Given the description of an element on the screen output the (x, y) to click on. 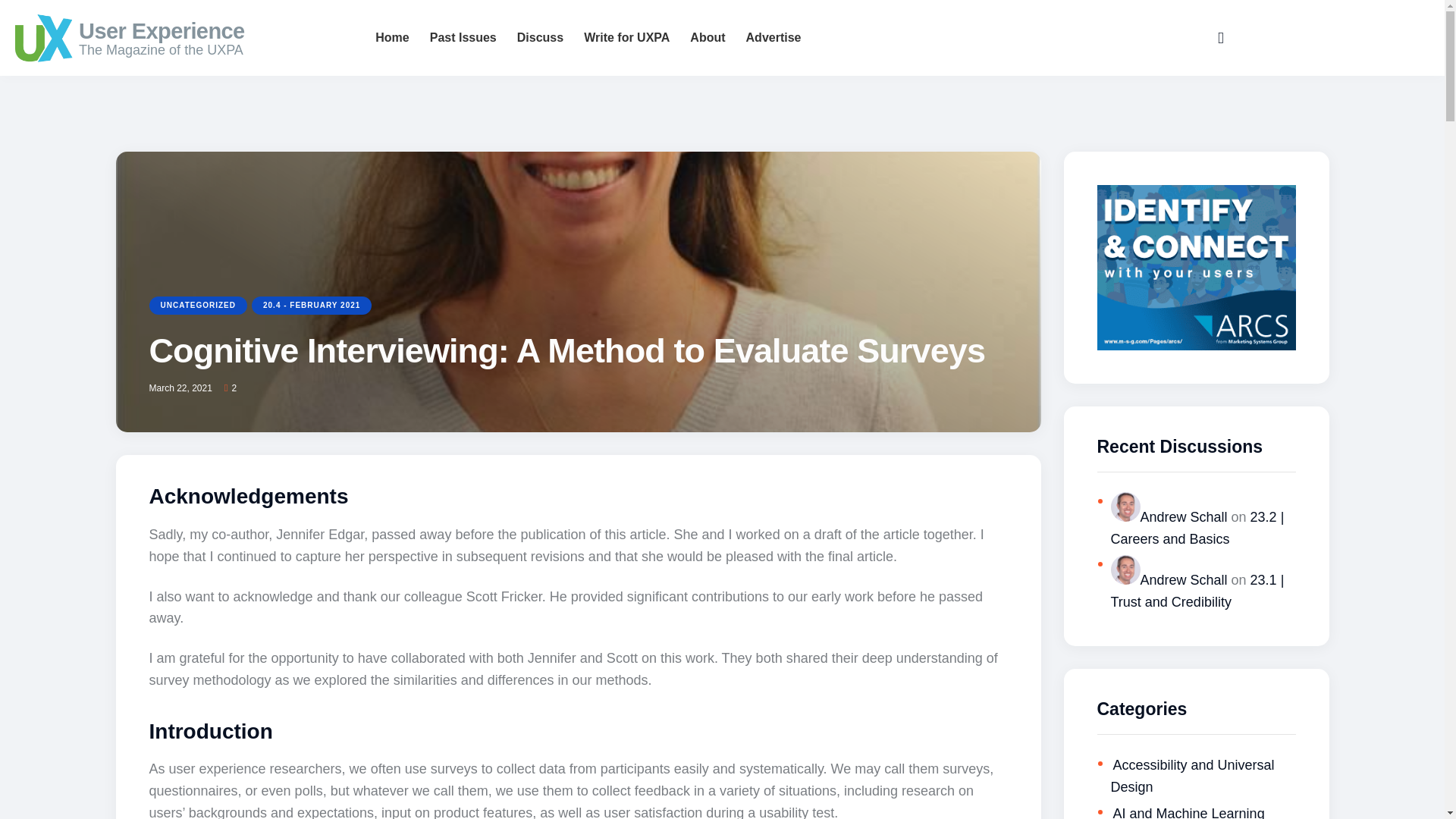
About (707, 37)
View Andrew Schall's profile (1168, 516)
Testing forum post to Careers and Basics (1196, 528)
Home (391, 37)
Discuss (540, 37)
Past Issues (463, 37)
Advertise (773, 37)
Write for UXPA (626, 37)
Like (235, 387)
View Andrew Schall's profile (1168, 580)
Test message to the forum (1196, 590)
User Experience (205, 30)
